Given the description of an element on the screen output the (x, y) to click on. 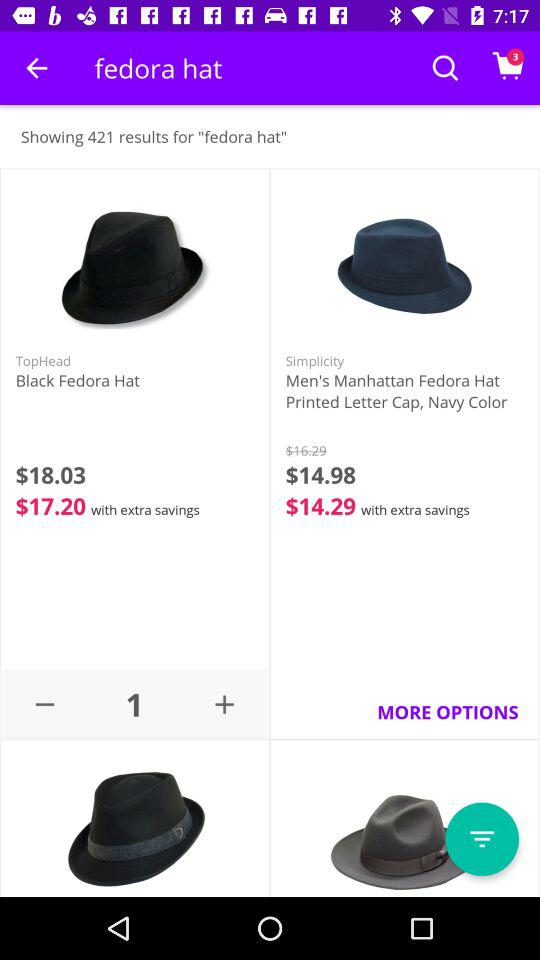
turn off item above showing 421 results item (36, 68)
